Given the description of an element on the screen output the (x, y) to click on. 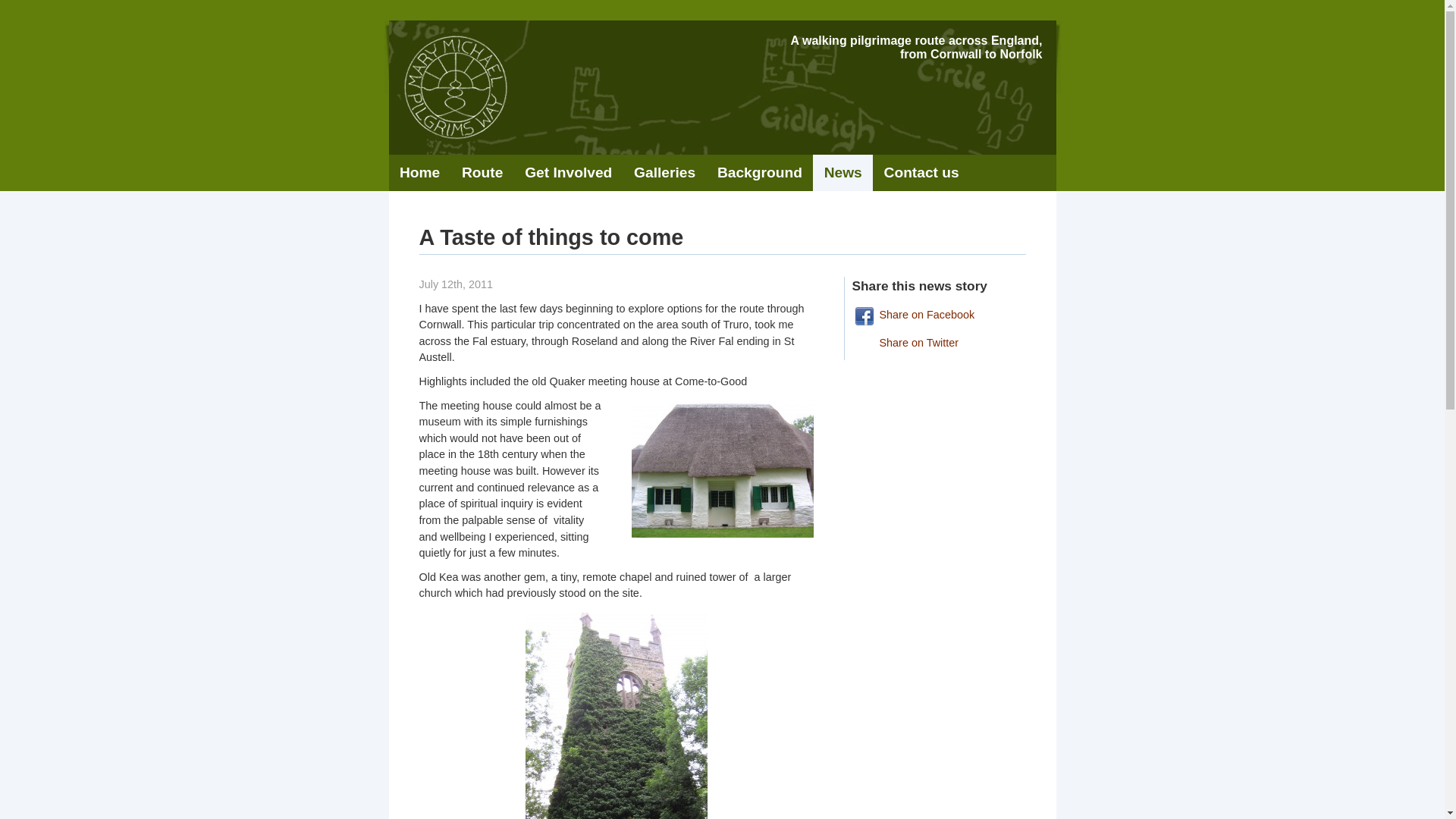
Background (759, 172)
Route (482, 172)
Contact us (920, 172)
Mary Michael Pilgrims Way (454, 87)
Galleries (664, 172)
Share on Facebook (949, 315)
Come -to-Good , Quaker Meeting House (721, 469)
Share on Twitter (949, 344)
Tweet it (949, 344)
Home (418, 172)
Mary Michael Pilgrims Way homepage (454, 87)
News (842, 172)
Get Involved (568, 172)
Share on Facebook (949, 315)
